Given the description of an element on the screen output the (x, y) to click on. 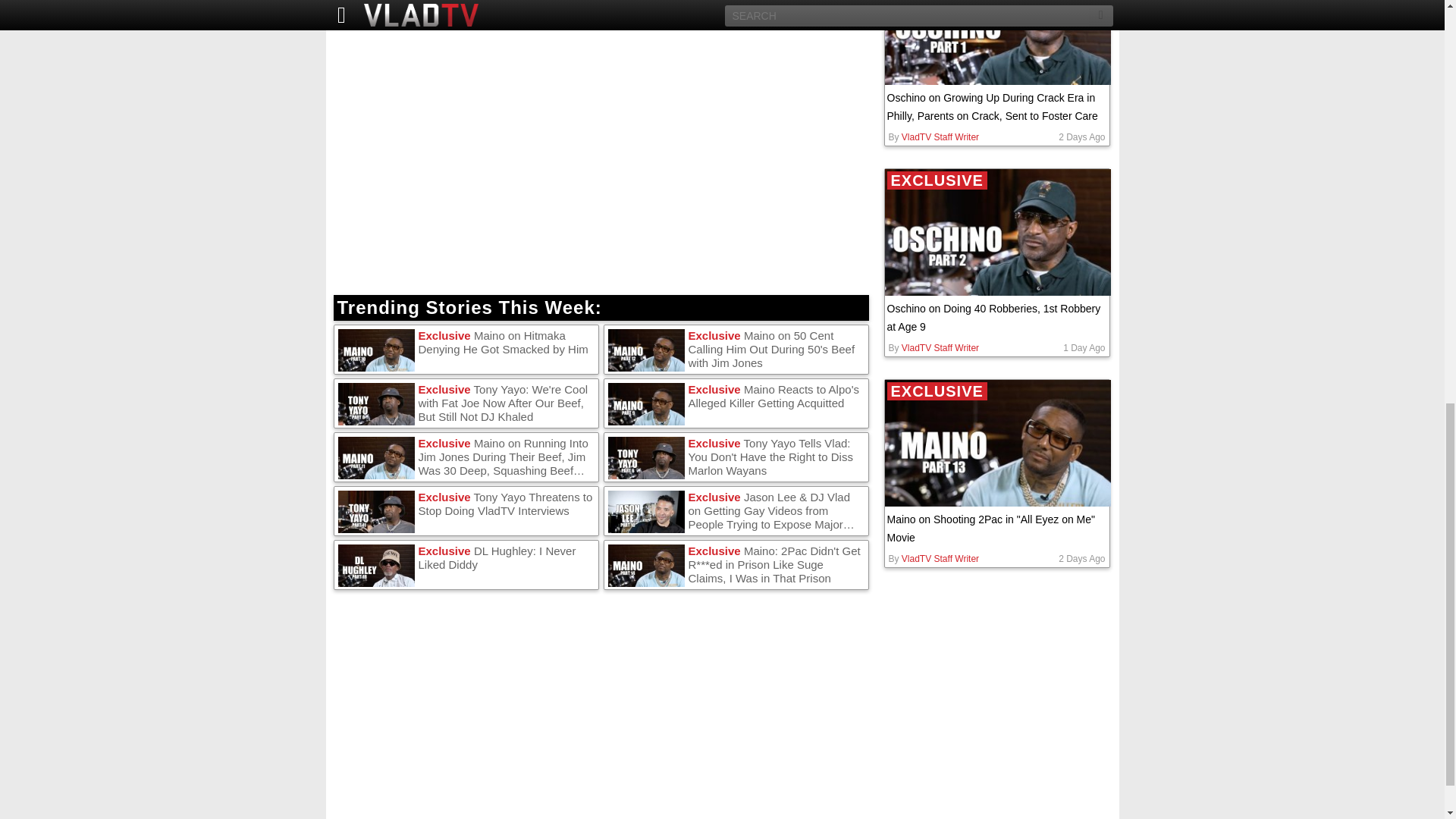
Exclusive Maino on Hitmaka Denying He Got Smacked by Him (465, 349)
Exclusive DL Hughley: I Never Liked Diddy (465, 564)
